Given the description of an element on the screen output the (x, y) to click on. 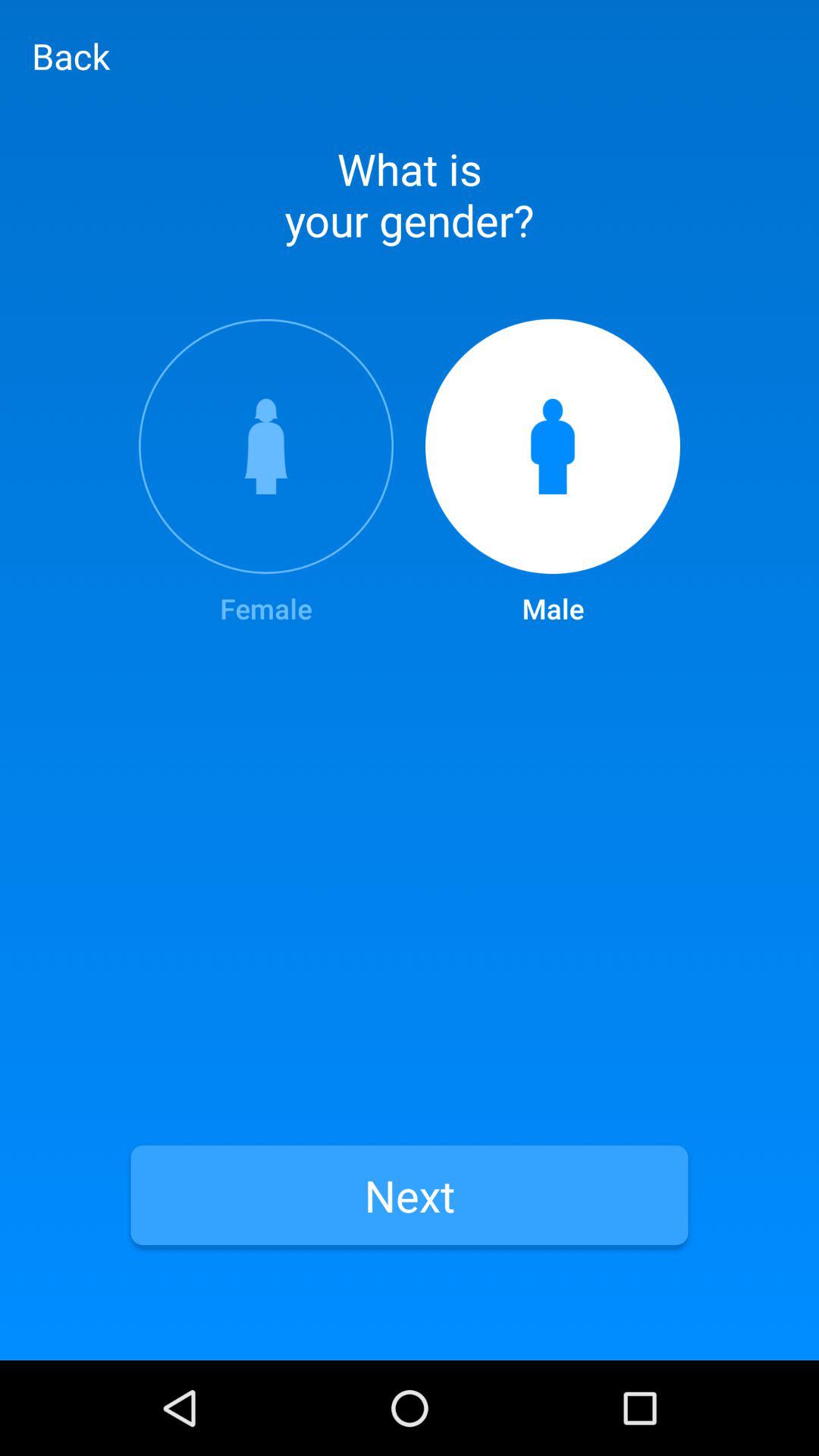
open item below what is your icon (552, 473)
